Given the description of an element on the screen output the (x, y) to click on. 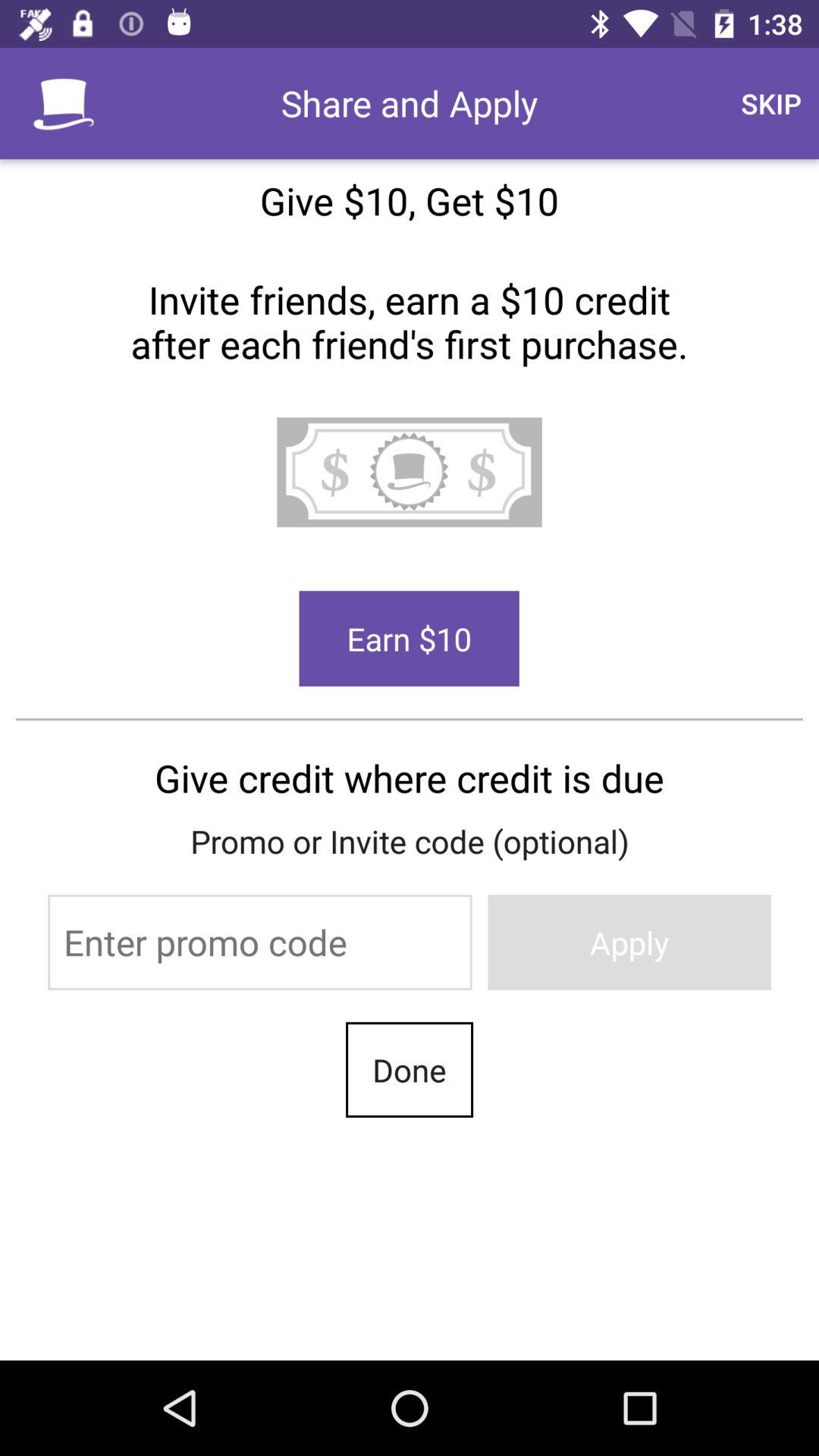
scroll until done item (409, 1069)
